Given the description of an element on the screen output the (x, y) to click on. 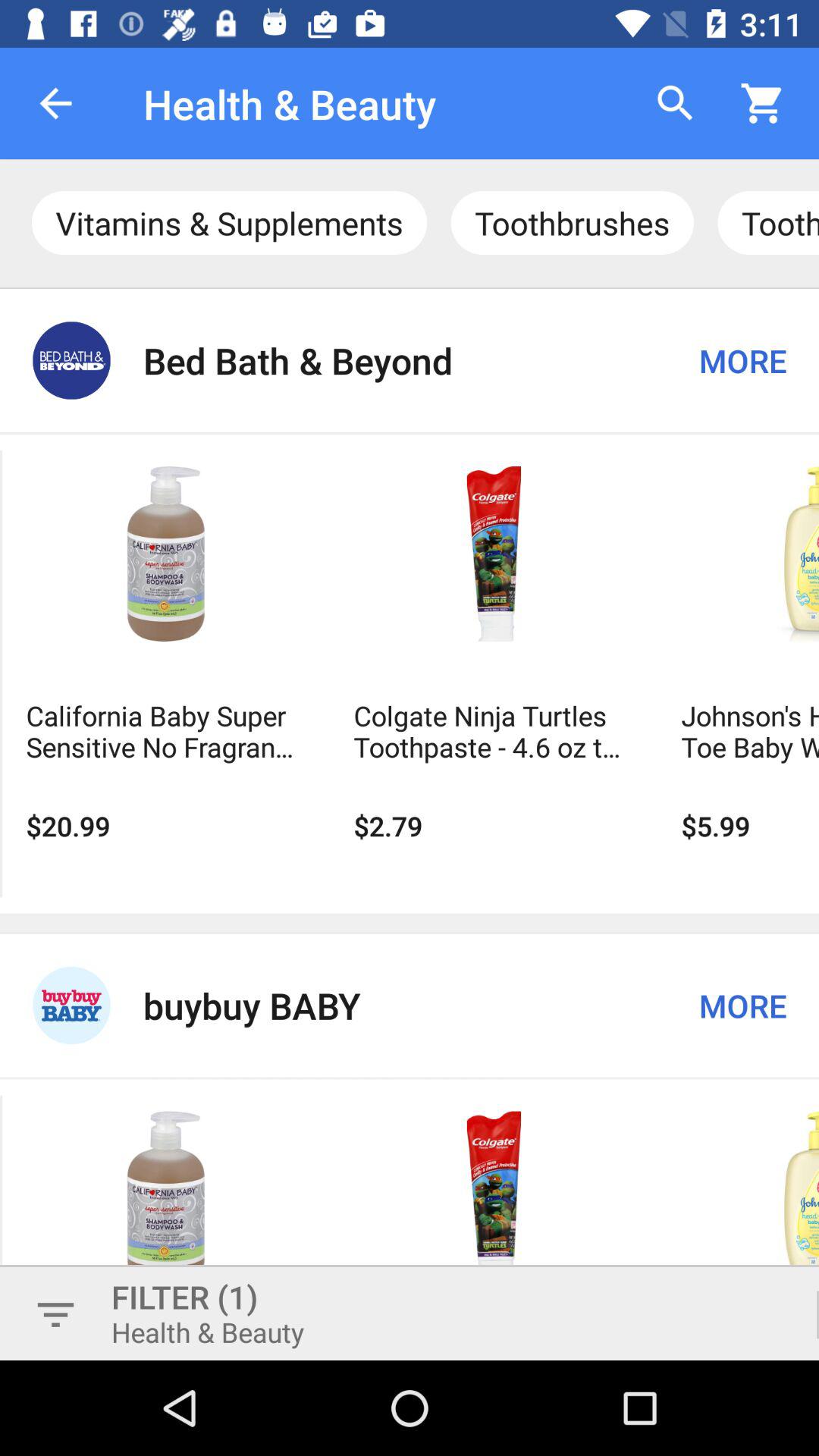
click on the search icon (675, 103)
click on the text next to vitaminssupplements (571, 222)
select the second image below buybuy baby (493, 1199)
move to the text which is left to the text toothbrushes (228, 222)
